Given the description of an element on the screen output the (x, y) to click on. 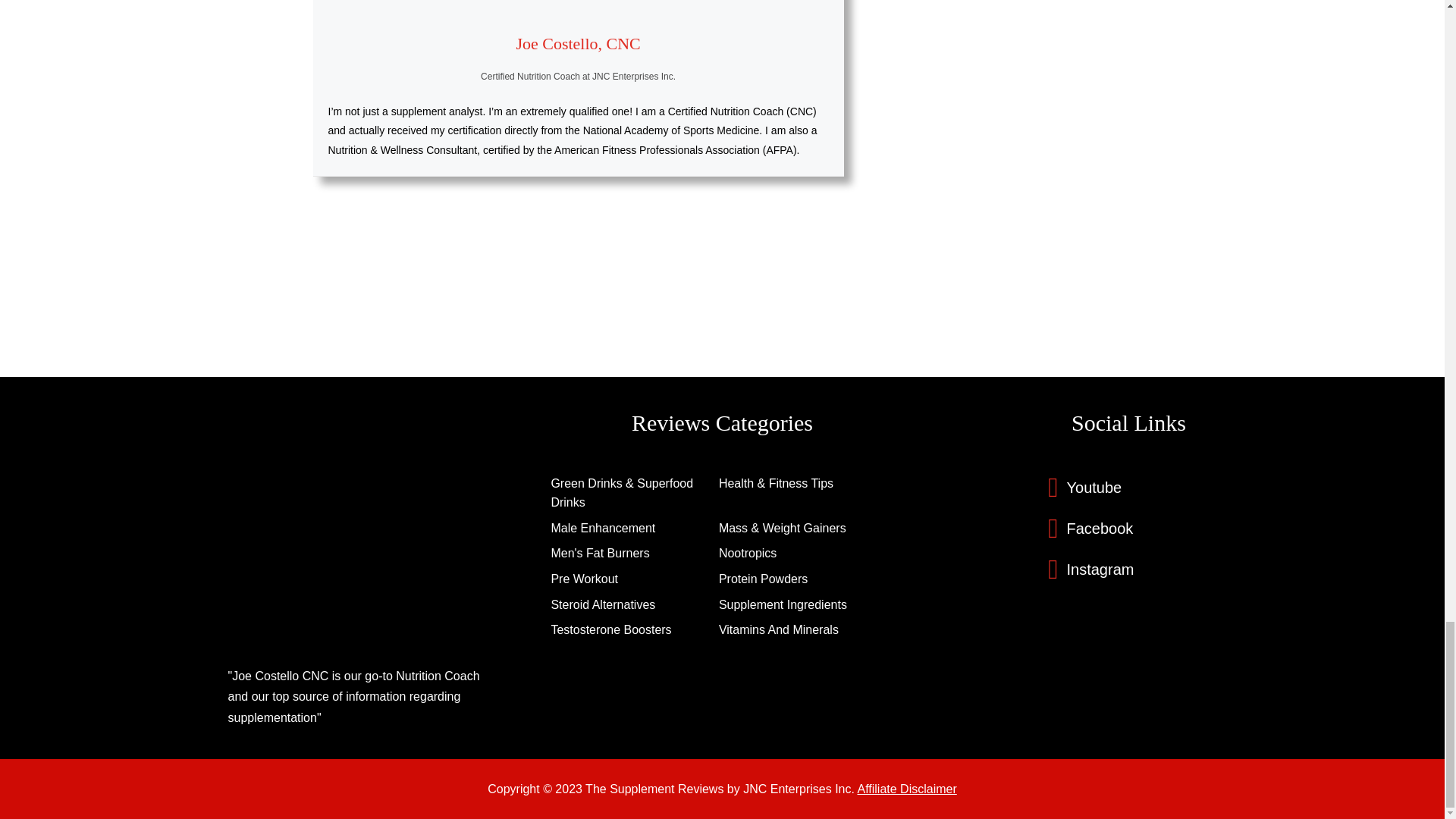
Joe Costello, CNC (577, 43)
